Given the description of an element on the screen output the (x, y) to click on. 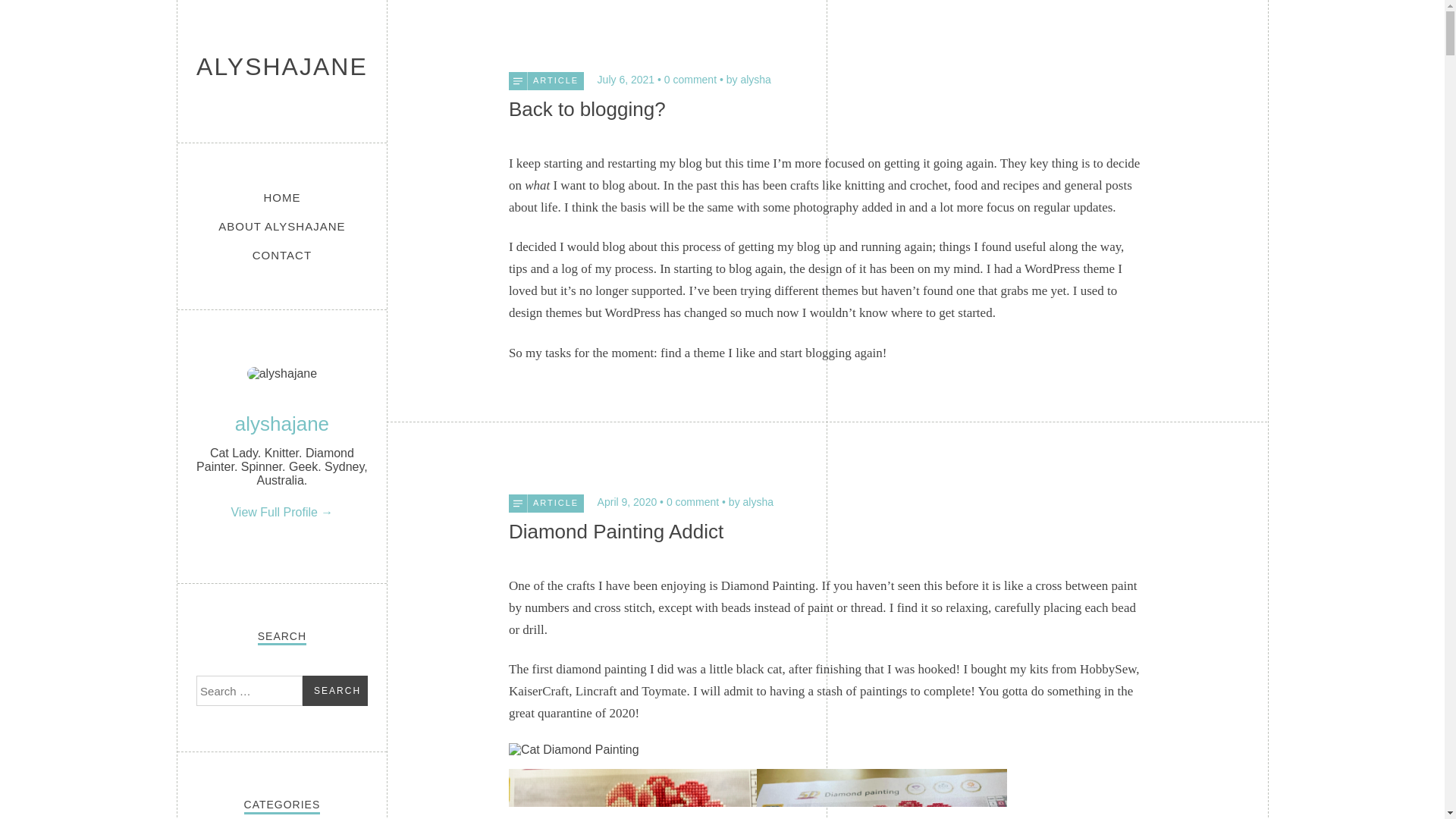
ALYSHAJANE (282, 66)
Permalink to Back to blogging? (586, 108)
Search (335, 690)
Permalink to Diamond Painting Addict (615, 531)
All posts by alysha (748, 79)
AlyshaJane (282, 66)
ABOUT ALYSHAJANE (281, 226)
CONTACT (282, 254)
alyshajane (281, 423)
All posts by alysha (751, 501)
